Given the description of an element on the screen output the (x, y) to click on. 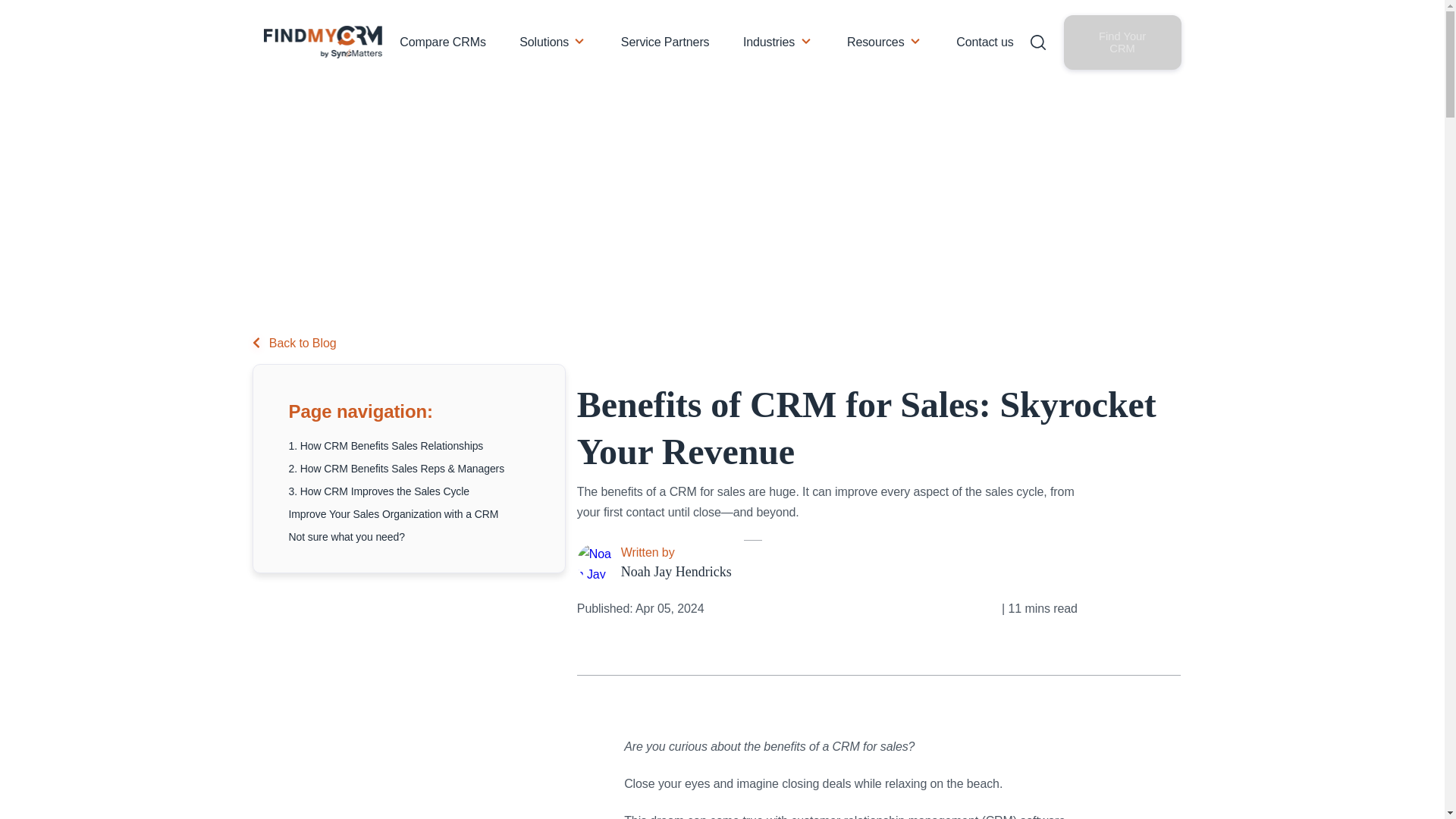
Contact us (984, 42)
Industries (768, 42)
Service Partners (665, 42)
Resources (875, 42)
Solutions (544, 42)
Compare CRMs (442, 42)
FMC logo (324, 42)
